Given the description of an element on the screen output the (x, y) to click on. 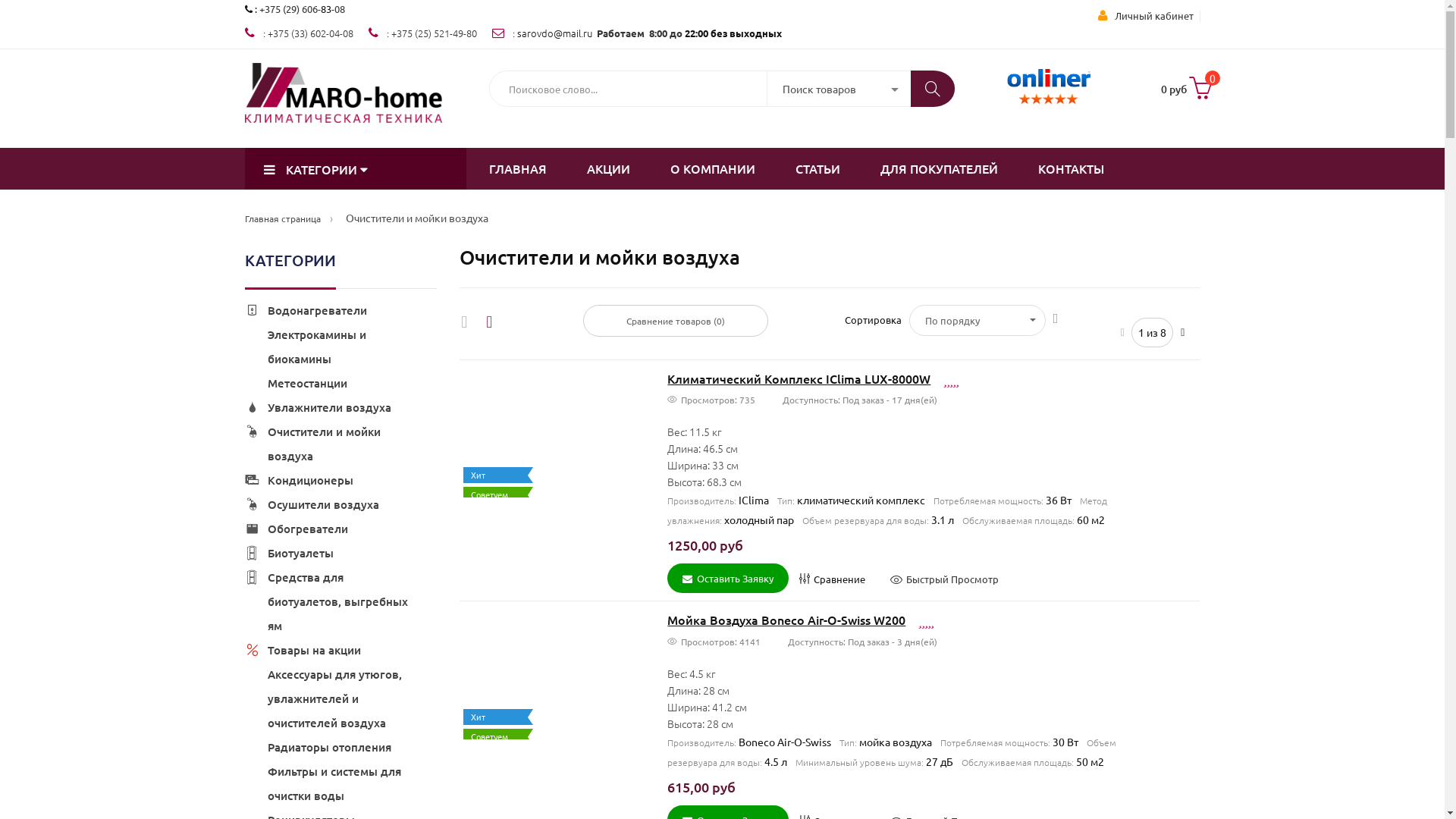
+375 (29) 606- Element type: text (289, 8)
+375 (25) 521-49-80 Element type: text (433, 32)
-08 Element type: text (337, 8)
+375 (33) 602-04-08 Element type: text (309, 32)
